Given the description of an element on the screen output the (x, y) to click on. 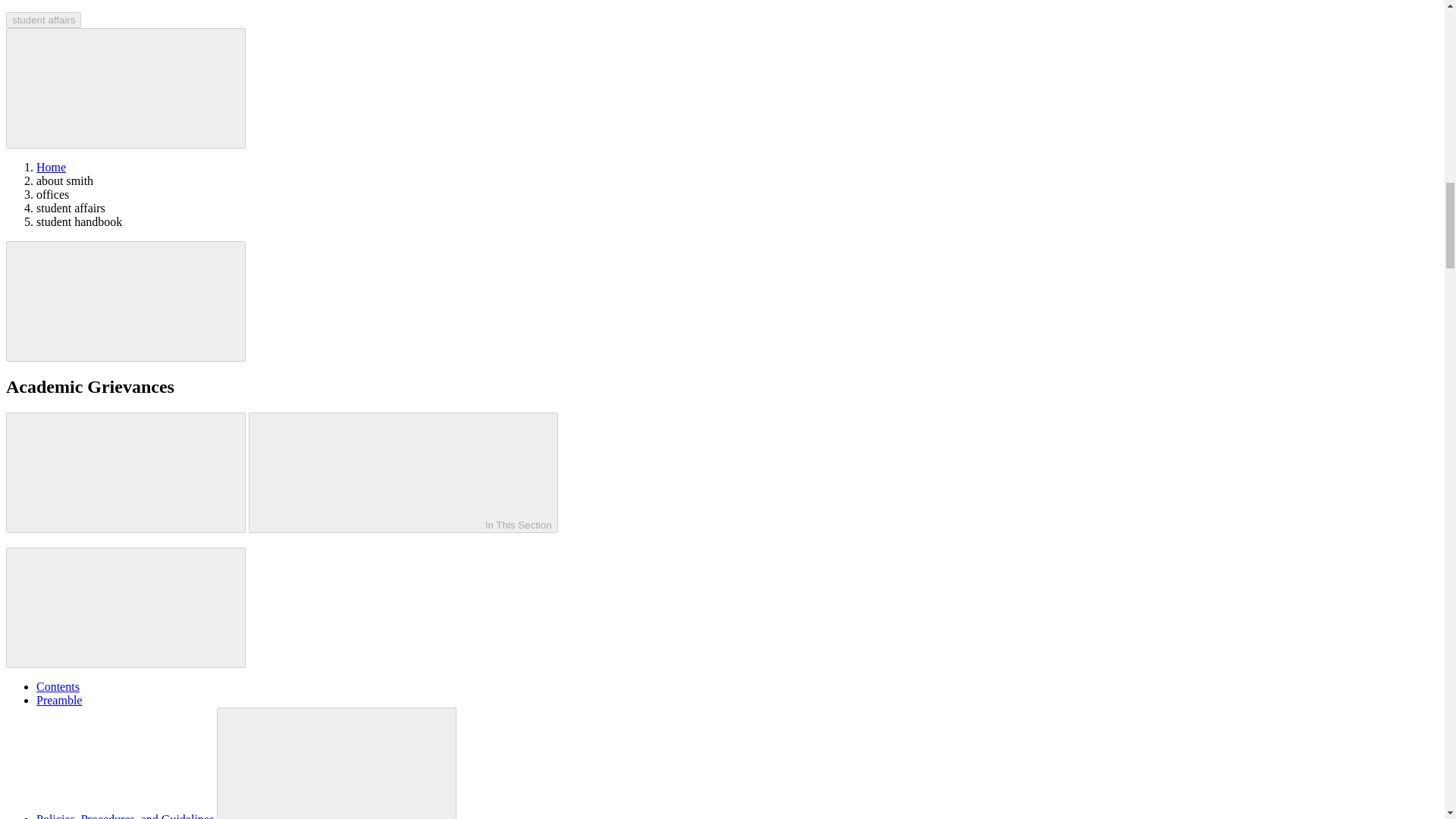
Scroll Left (125, 87)
Scroll Left (125, 472)
Scroll Right (125, 300)
